Given the description of an element on the screen output the (x, y) to click on. 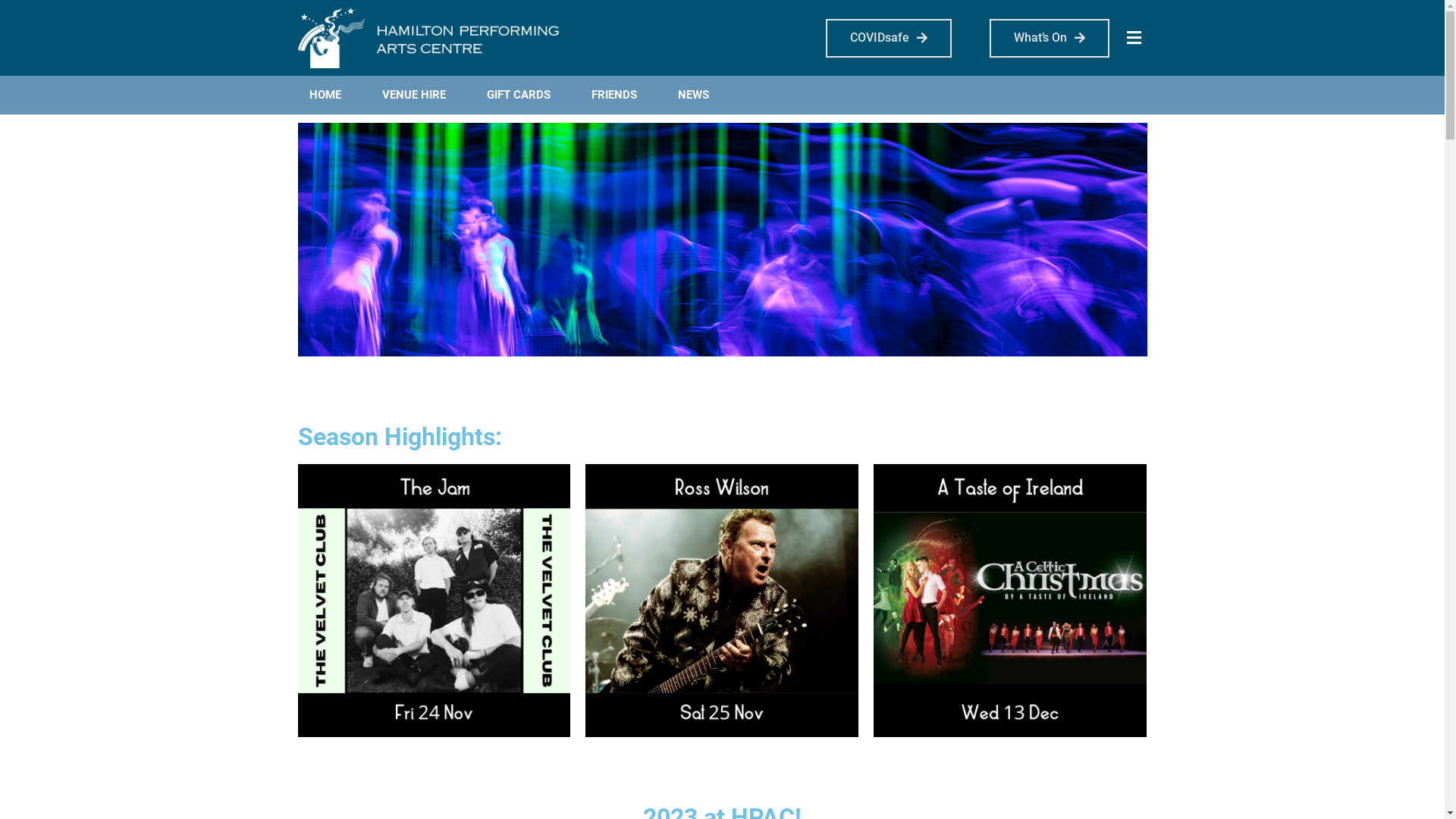
GIFT CARDS Element type: text (517, 94)
MicrosoftTeams-image (2) Element type: hover (721, 239)
VENUE HIRE Element type: text (413, 94)
FRIENDS Element type: text (613, 94)
COVIDsafe Element type: text (887, 37)
HOME Element type: text (324, 94)
NEWS Element type: text (692, 94)
